Given the description of an element on the screen output the (x, y) to click on. 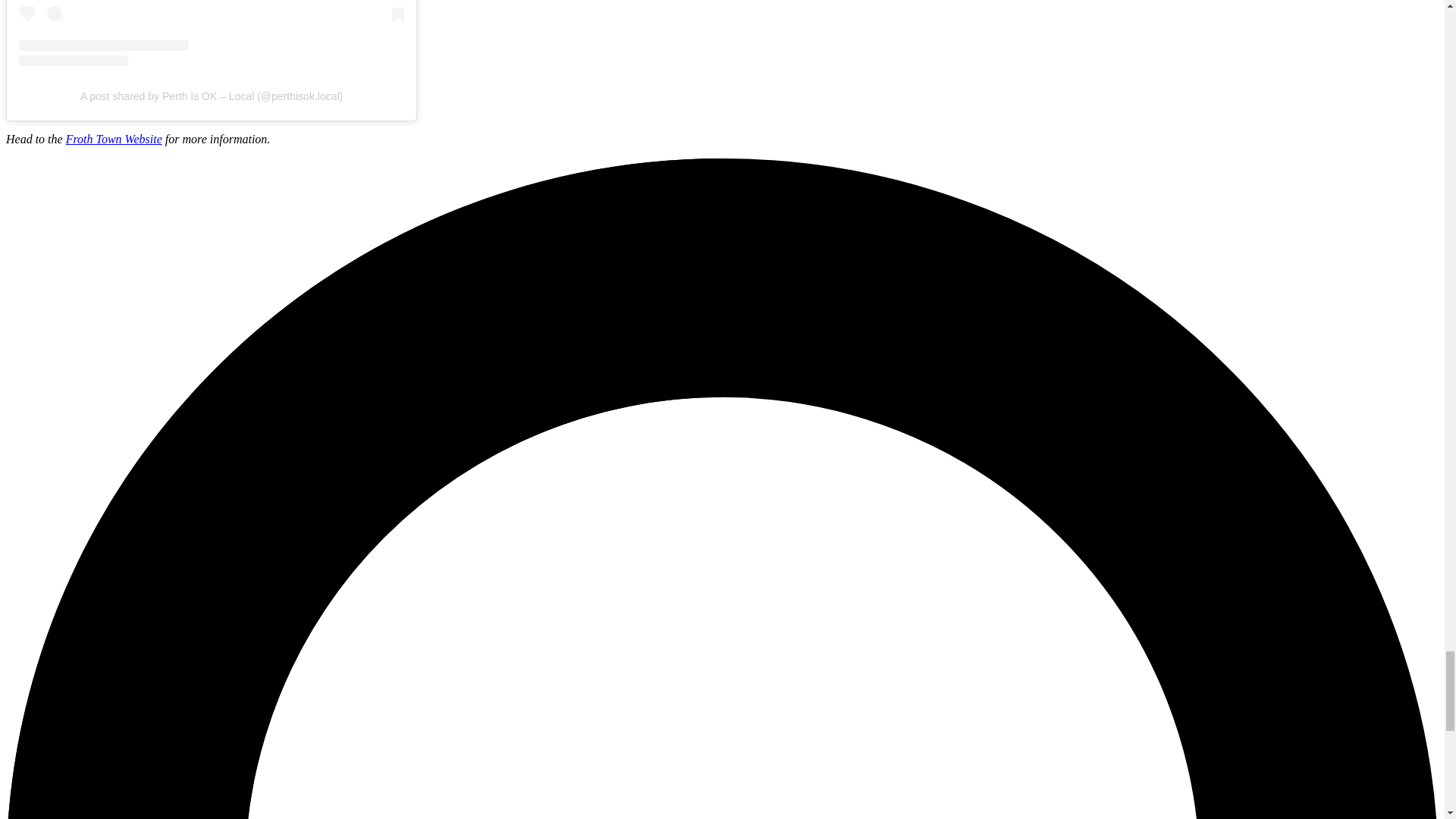
Froth Town Website (113, 138)
View this post on Instagram (211, 33)
